Given the description of an element on the screen output the (x, y) to click on. 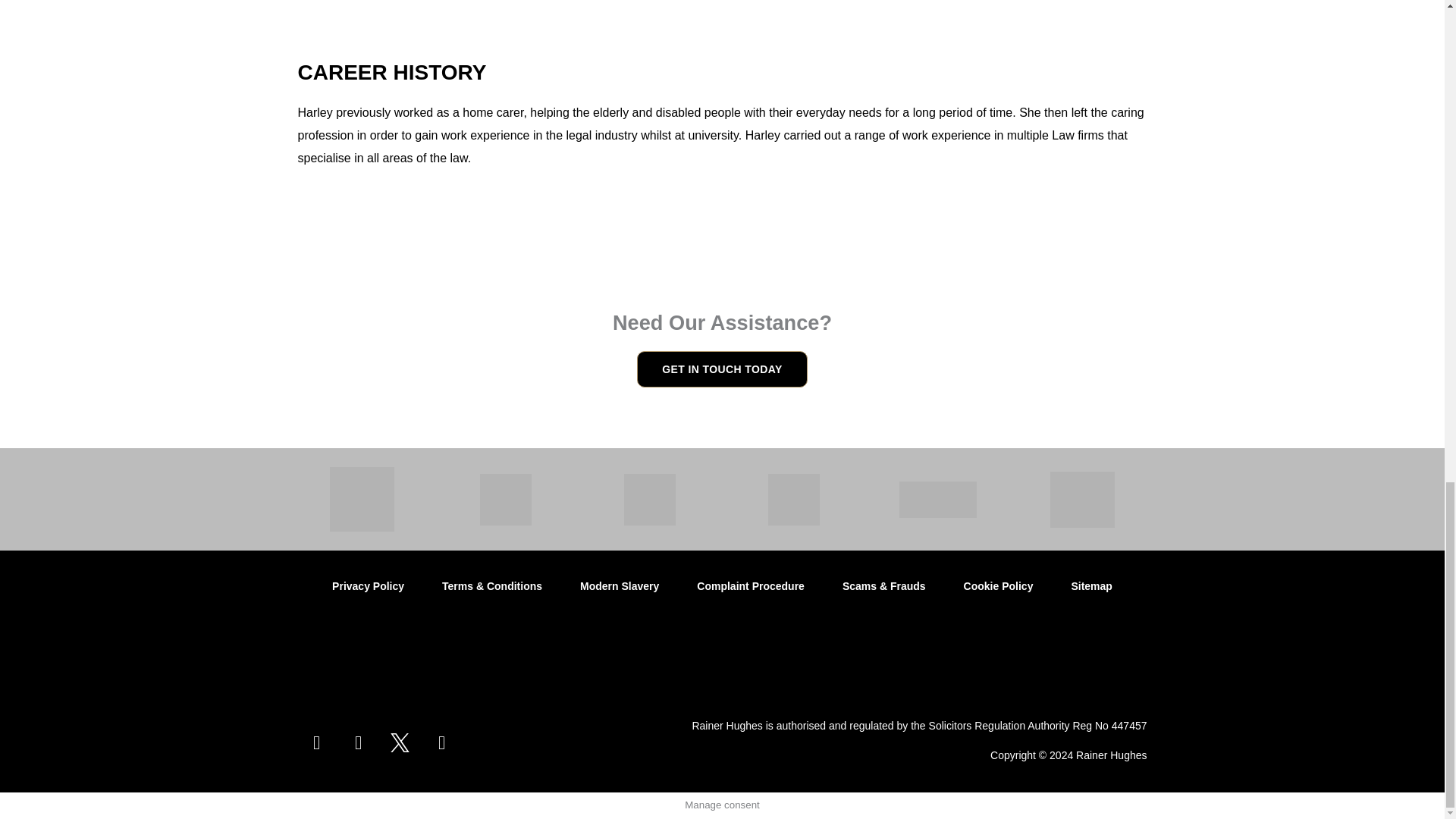
Modern Slavery (619, 587)
GET IN TOUCH TODAY (722, 369)
Privacy Policy (367, 587)
